Given the description of an element on the screen output the (x, y) to click on. 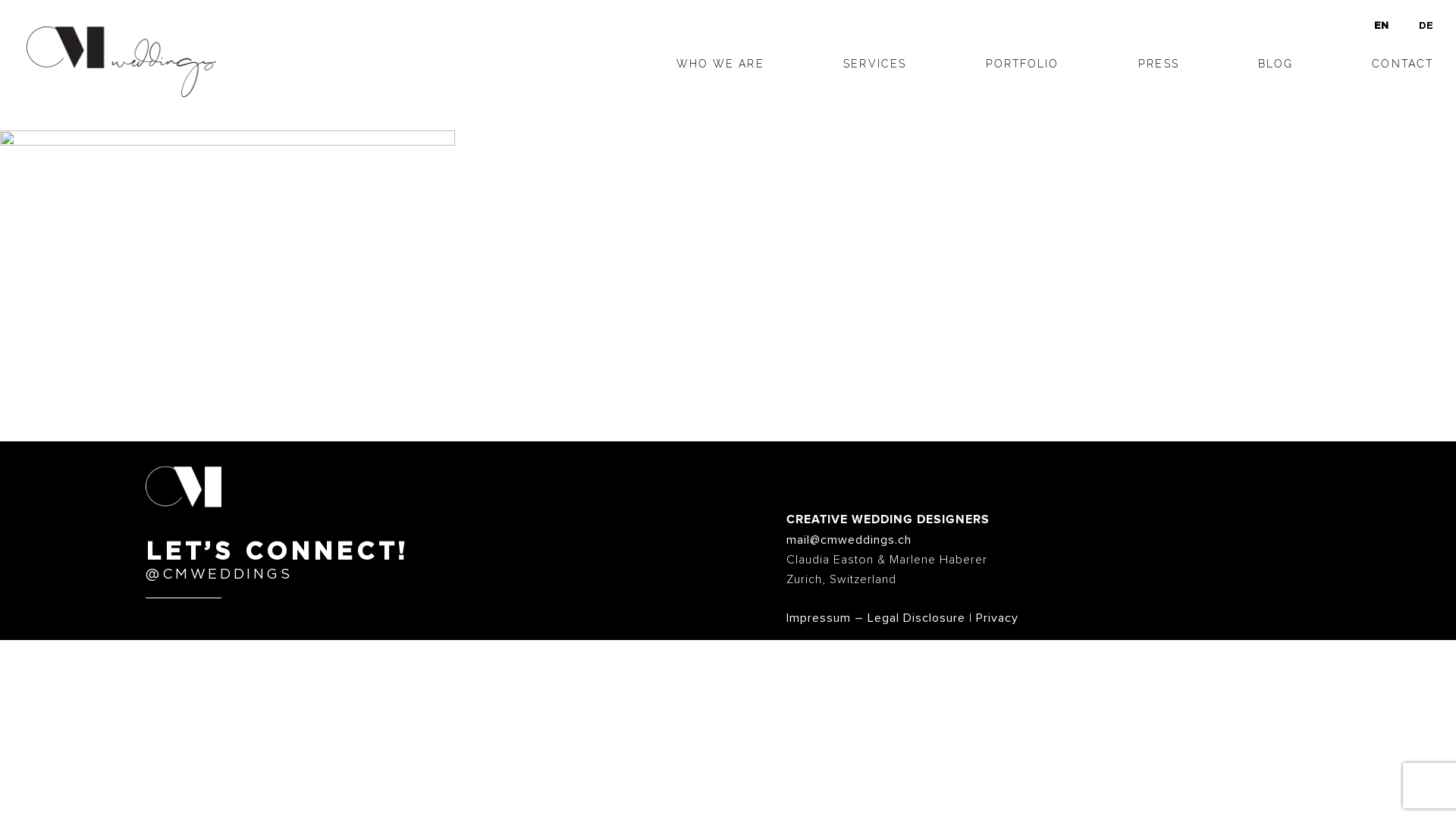
PRESS Element type: text (1158, 63)
CONTACT Element type: text (1402, 63)
Privacy Element type: text (996, 617)
mail@cmweddings.ch Element type: text (848, 539)
PORTFOLIO Element type: text (1022, 63)
DE Element type: text (1412, 26)
EN Element type: text (1367, 26)
SERVICES Element type: text (874, 63)
BLOG Element type: text (1275, 63)
WHO WE ARE Element type: text (720, 63)
